Given the description of an element on the screen output the (x, y) to click on. 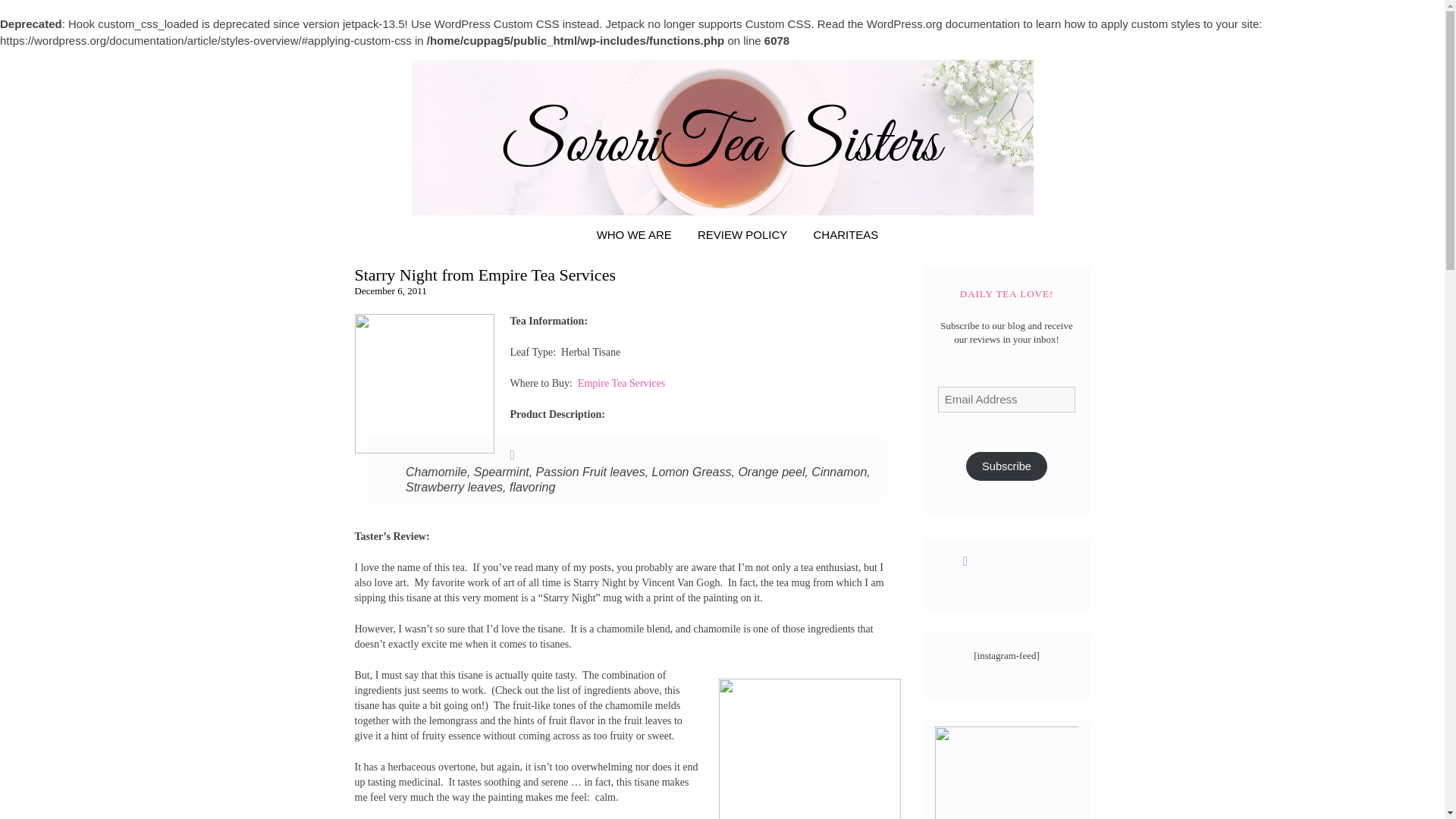
Empire Tea Services (621, 383)
CHARITEAS (845, 234)
REVIEW POLICY (741, 234)
Starry Night from Empire Tea Services (485, 274)
WHO WE ARE (633, 234)
